Given the description of an element on the screen output the (x, y) to click on. 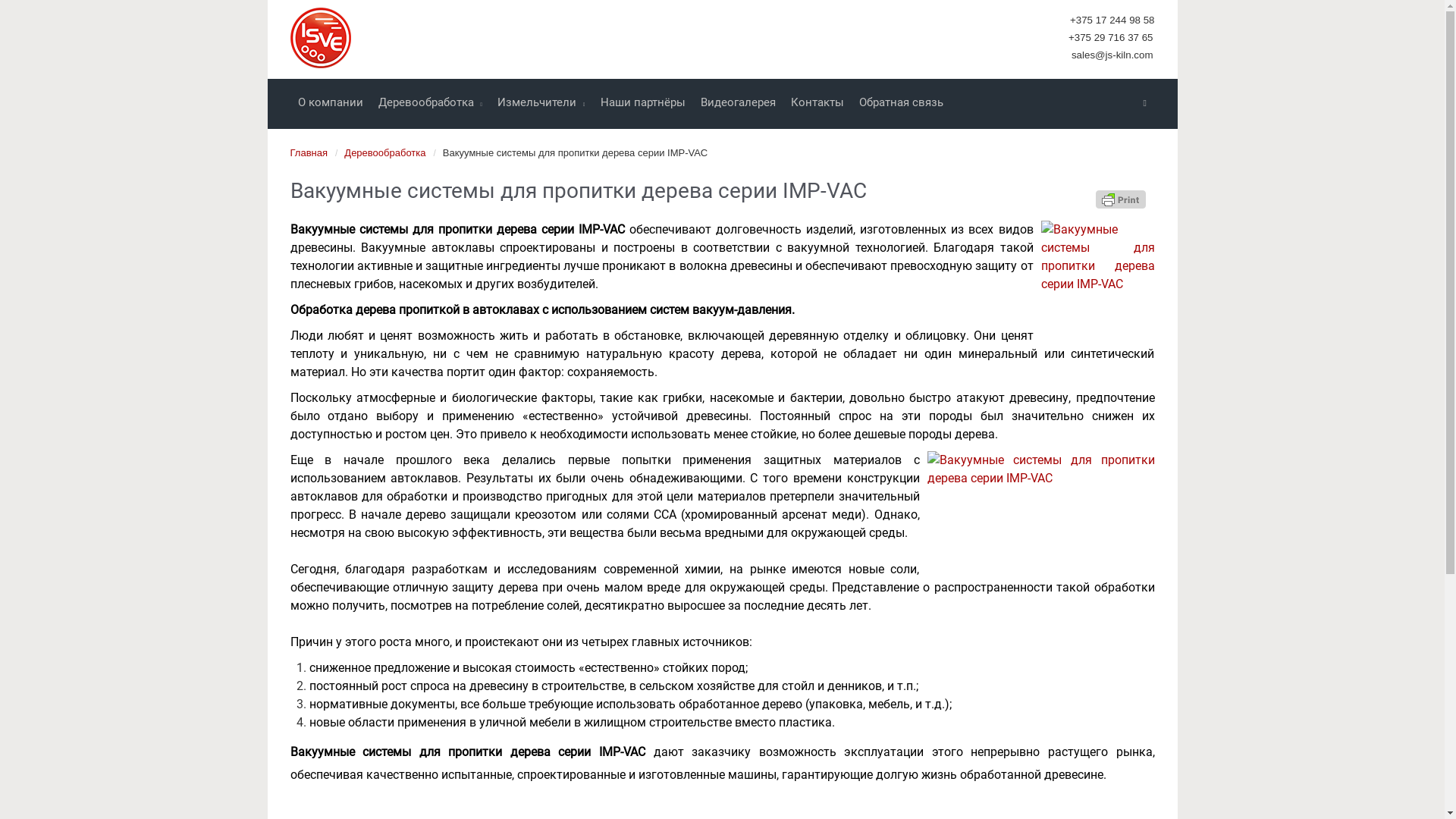
Printer Friendly, PDF & Email Element type: hover (1120, 199)
